Given the description of an element on the screen output the (x, y) to click on. 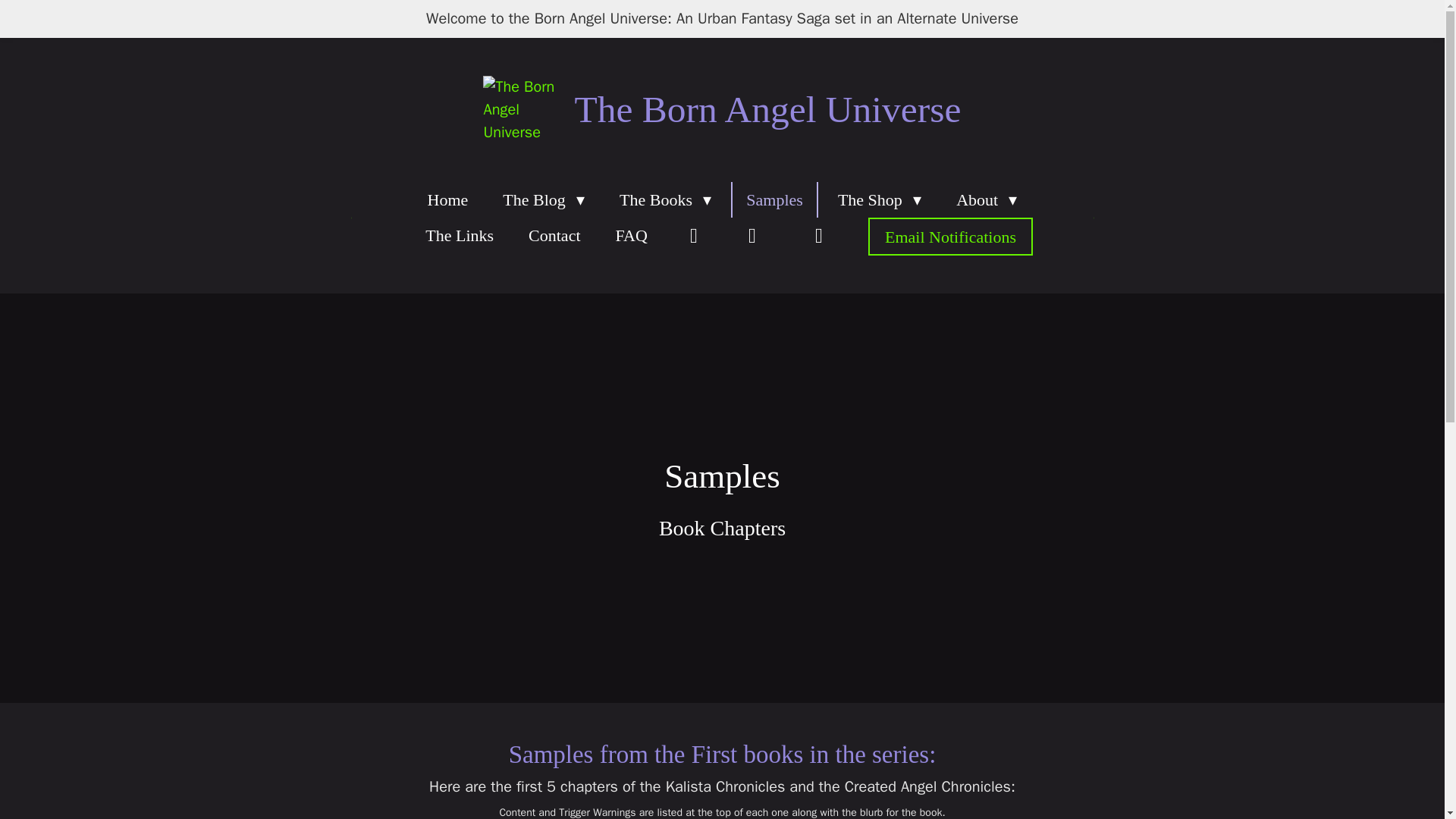
FAQ (631, 235)
The Books (665, 199)
The Blog (543, 199)
The Born Angel Universe (521, 110)
Email Notifications (949, 236)
Home (447, 199)
Cart (814, 235)
Email Notifications (949, 236)
Search (751, 235)
The Born Angel Universe (766, 109)
